Given the description of an element on the screen output the (x, y) to click on. 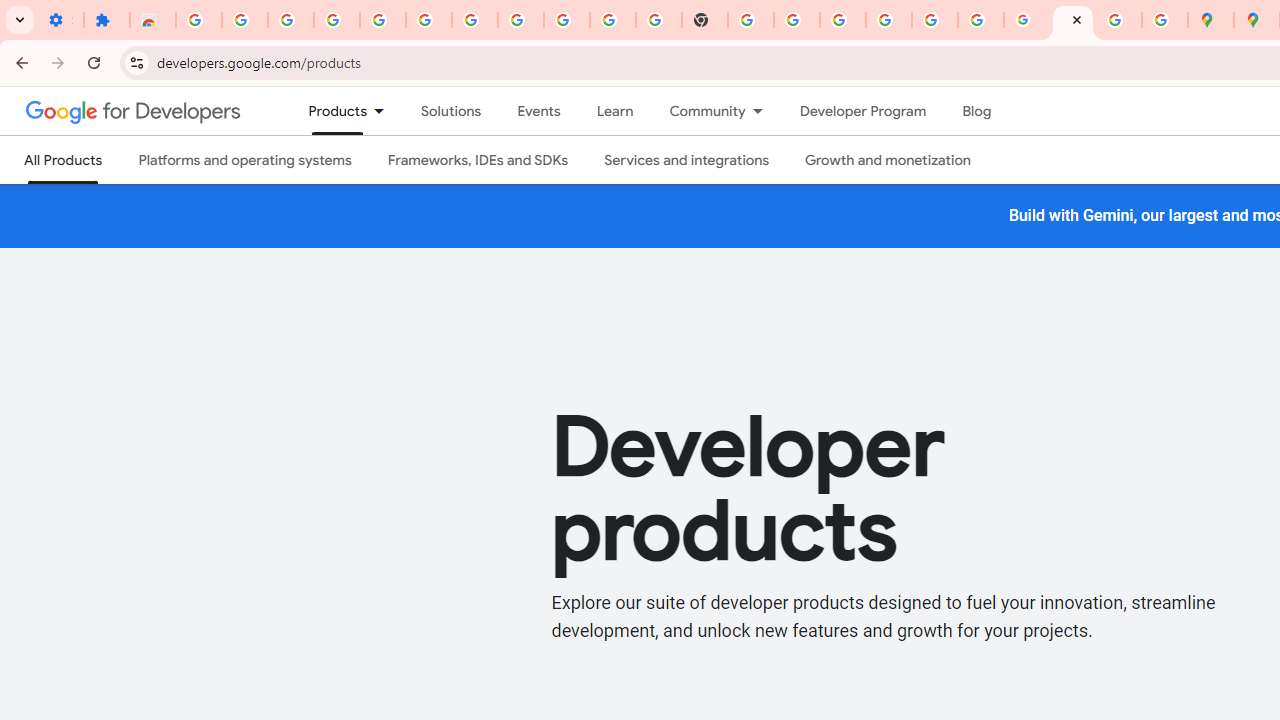
Settings - On startup (60, 20)
Reviews: Helix Fruit Jump Arcade Game (153, 20)
Solutions (451, 111)
Blog (976, 111)
Delete photos & videos - Computer - Google Photos Help (336, 20)
Extensions (107, 20)
Google for Developers (133, 110)
Sign in - Google Accounts (198, 20)
Frameworks, IDEs and SDKs (477, 160)
